Given the description of an element on the screen output the (x, y) to click on. 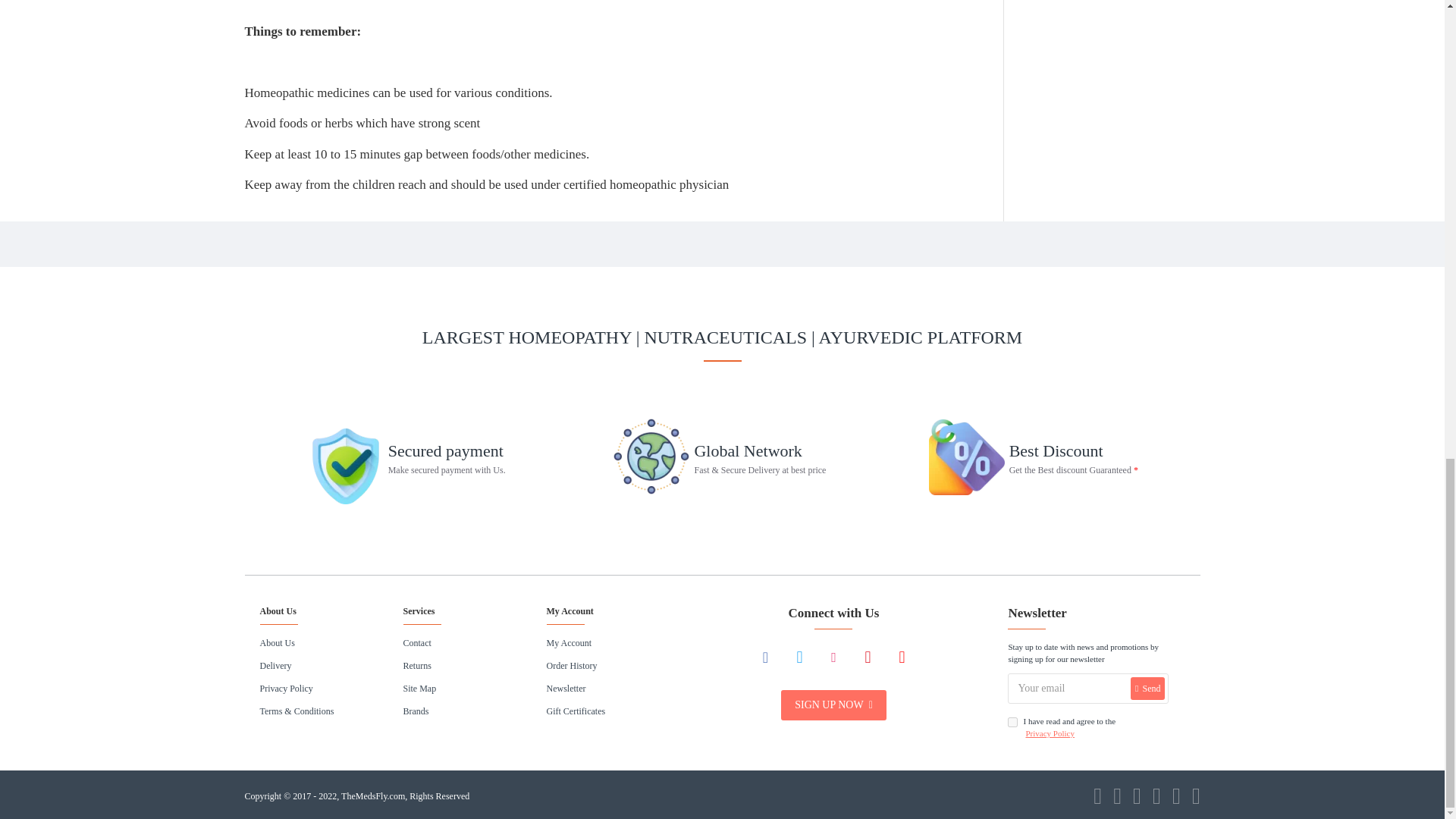
Facebook (765, 657)
YouTube (901, 657)
1 (1012, 722)
Twitter (799, 657)
Quora (867, 657)
Instagram (834, 657)
